Given the description of an element on the screen output the (x, y) to click on. 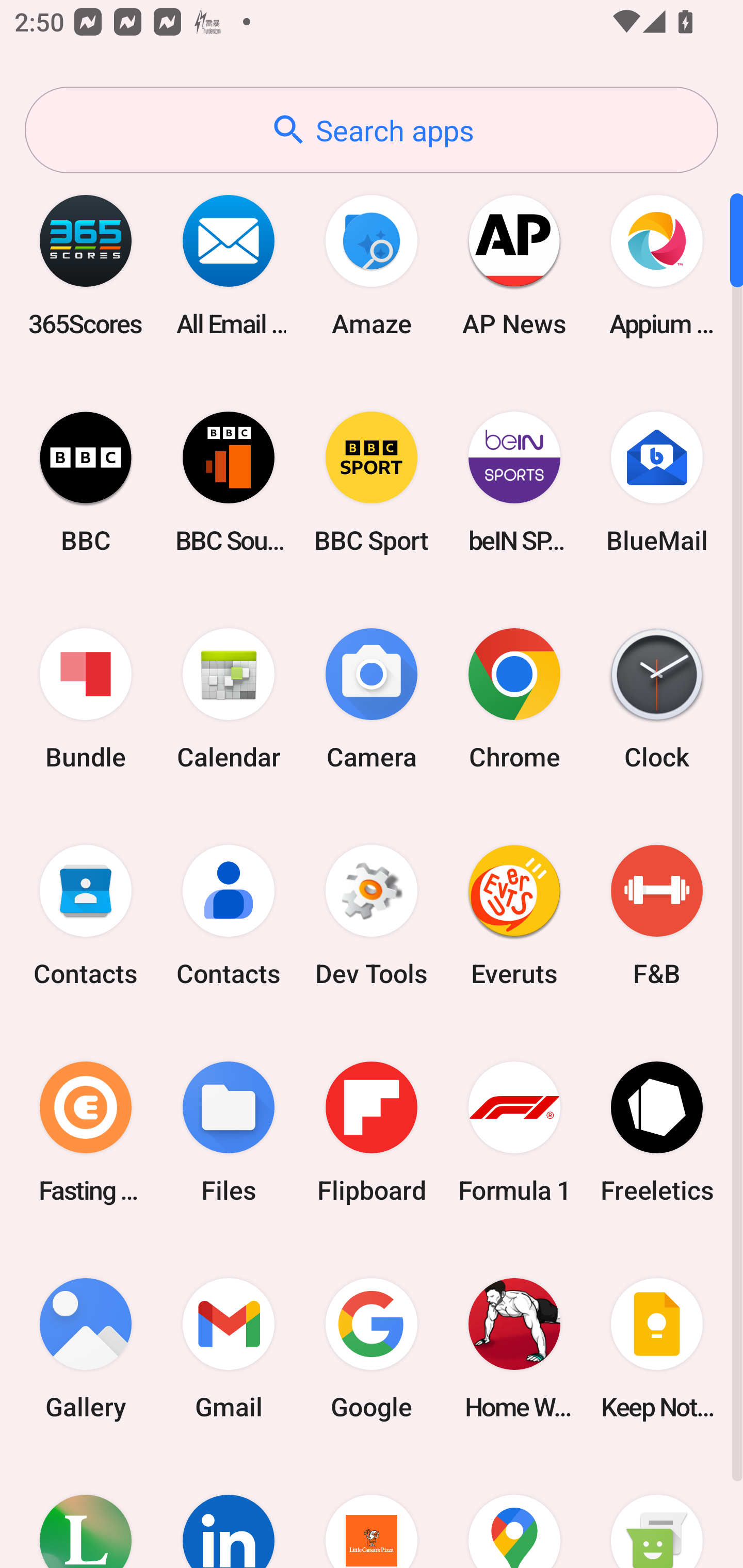
  Search apps (371, 130)
365Scores (85, 264)
All Email Connect (228, 264)
Amaze (371, 264)
AP News (514, 264)
Appium Settings (656, 264)
BBC (85, 482)
BBC Sounds (228, 482)
BBC Sport (371, 482)
beIN SPORTS (514, 482)
BlueMail (656, 482)
Bundle (85, 699)
Calendar (228, 699)
Camera (371, 699)
Chrome (514, 699)
Clock (656, 699)
Contacts (85, 915)
Contacts (228, 915)
Dev Tools (371, 915)
Everuts (514, 915)
F&B (656, 915)
Fasting Coach (85, 1131)
Files (228, 1131)
Flipboard (371, 1131)
Formula 1 (514, 1131)
Freeletics (656, 1131)
Gallery (85, 1348)
Gmail (228, 1348)
Google (371, 1348)
Home Workout (514, 1348)
Keep Notes (656, 1348)
